Given the description of an element on the screen output the (x, y) to click on. 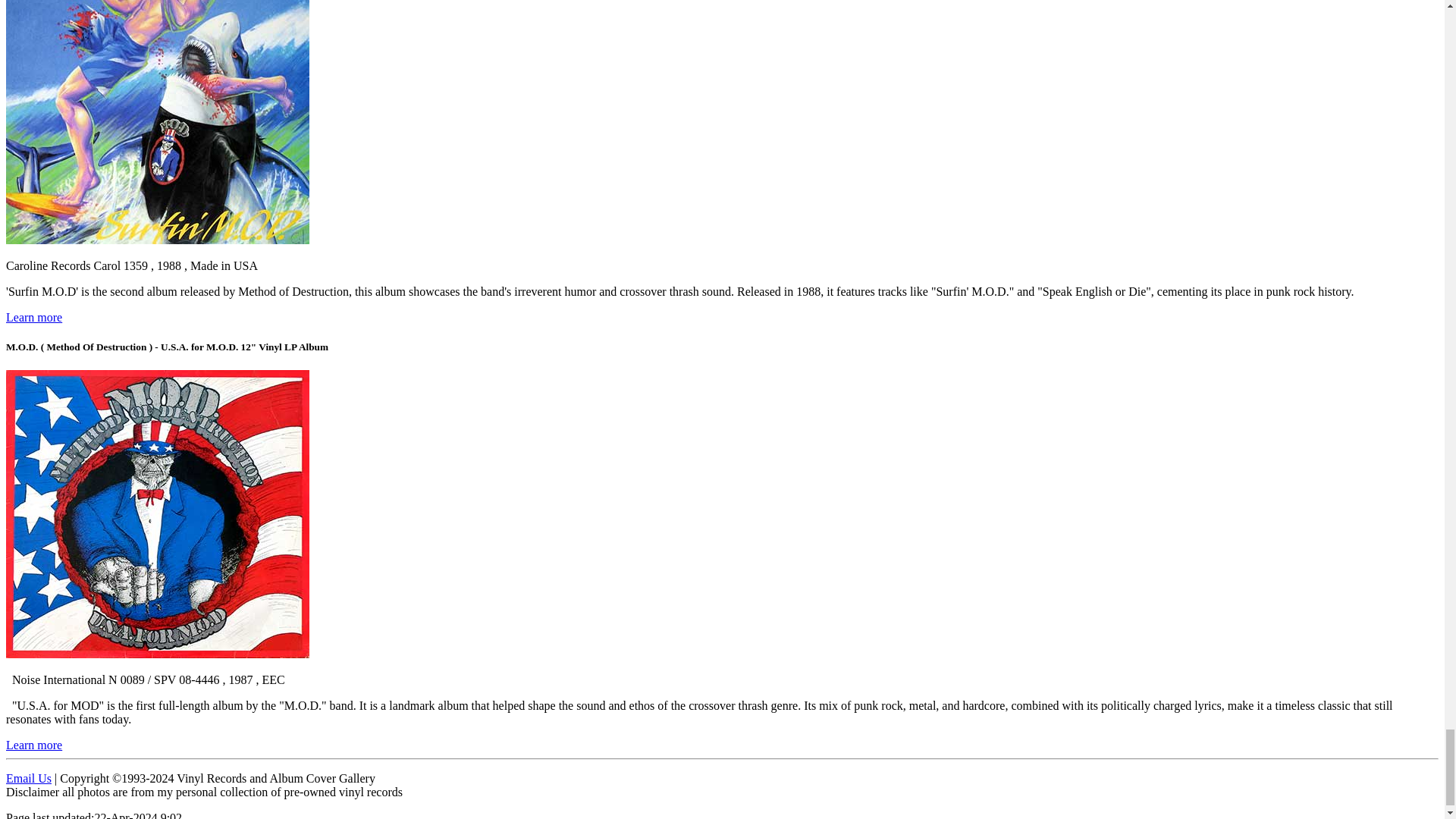
Learn more (33, 317)
Email Us (27, 778)
Learn more (33, 744)
